Given the description of an element on the screen output the (x, y) to click on. 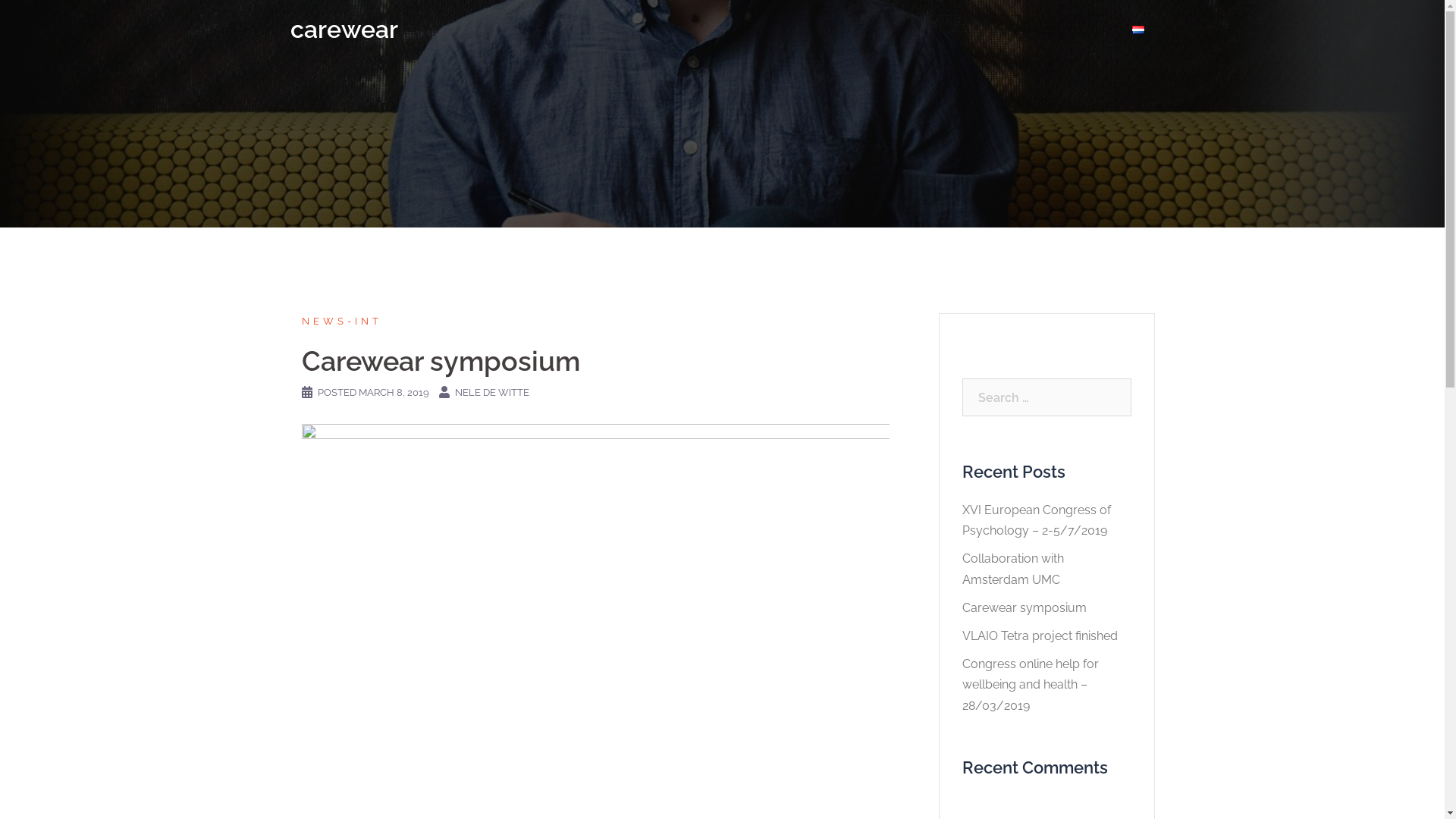
MARCH 8, 2019 Element type: text (392, 392)
Carewear symposium Element type: text (1023, 607)
NELE DE WITTE Element type: text (492, 392)
Search Element type: text (46, 18)
Skip to content Element type: text (0, 0)
carewear Element type: text (343, 29)
NEWS-INT Element type: text (341, 320)
VLAIO Tetra project finished Element type: text (1039, 635)
Collaboration with Amsterdam UMC Element type: text (1012, 568)
